Given the description of an element on the screen output the (x, y) to click on. 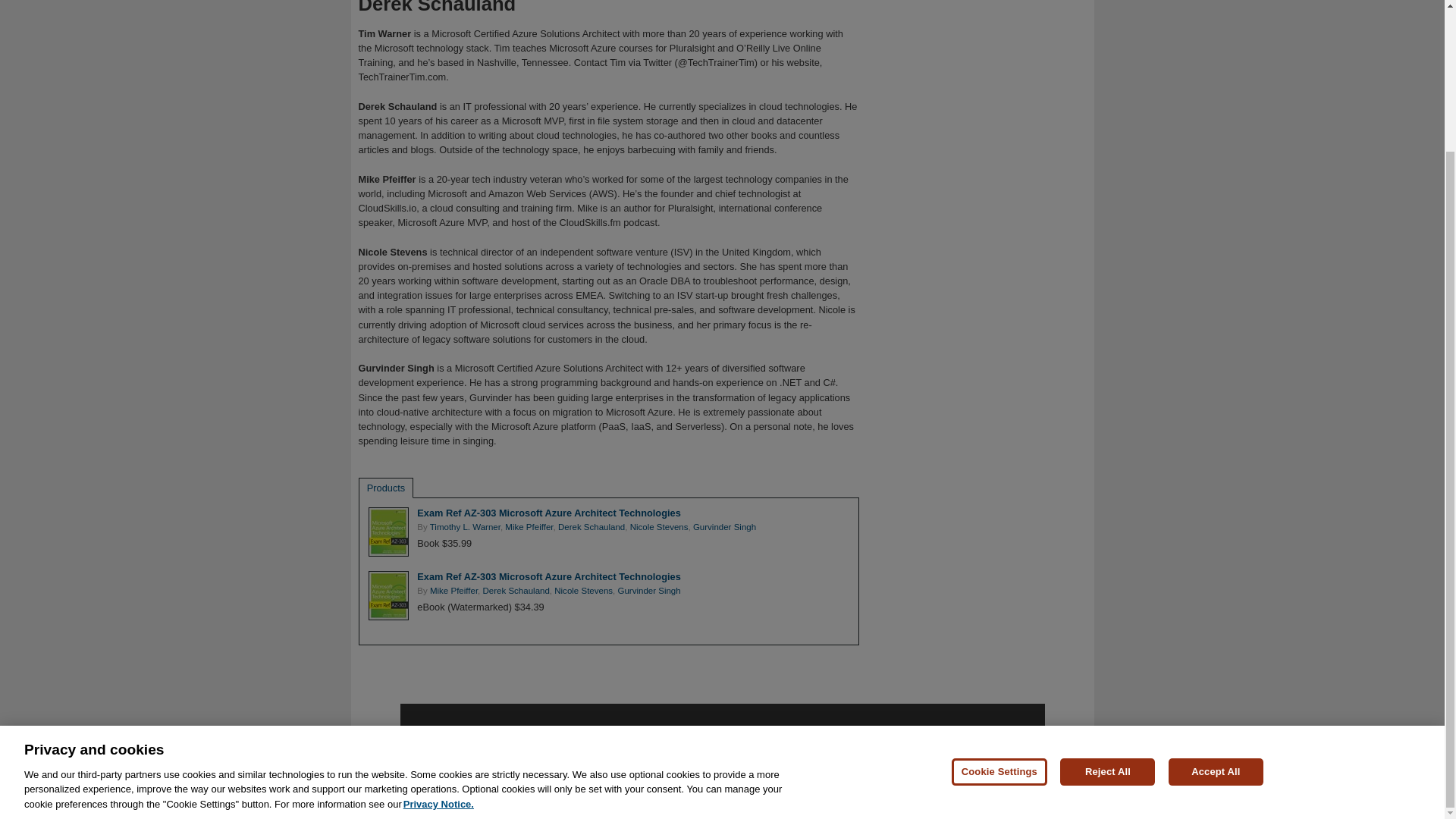
Mike Pfeiffer (529, 526)
Exam Ref AZ-303 Microsoft Azure Architect Technologies (547, 576)
Exam Ref AZ-303 Microsoft Azure Architect Technologies (547, 512)
Mike Pfeiffer (453, 590)
Gurvinder Singh (648, 590)
Derek Schauland (590, 526)
Derek Schauland (514, 590)
Nicole Stevens (659, 526)
Nicole Stevens (583, 590)
Timothy L. Warner (464, 526)
Gurvinder Singh (724, 526)
Products (386, 487)
